Given the description of an element on the screen output the (x, y) to click on. 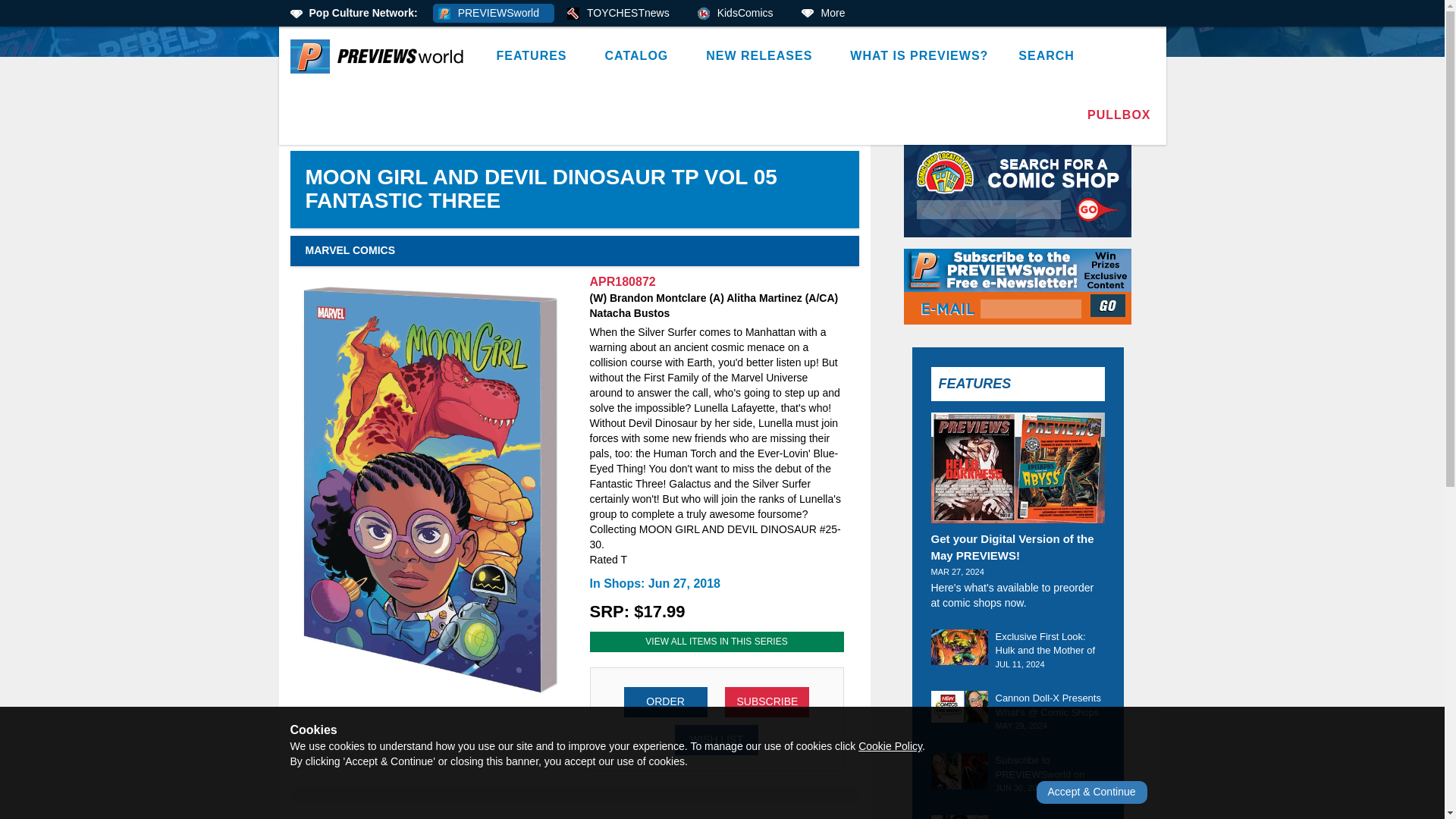
CATALOG (640, 55)
More (828, 13)
Enter ZIP or CAN Postal Code (989, 209)
Email Address Input for Newsletter Signup (1030, 308)
KidsComics (741, 13)
PREVIEWSworld (493, 13)
Join Our NewsLetter (1109, 305)
TOYCHESTnews (623, 13)
FEATURES (534, 55)
